Given the description of an element on the screen output the (x, y) to click on. 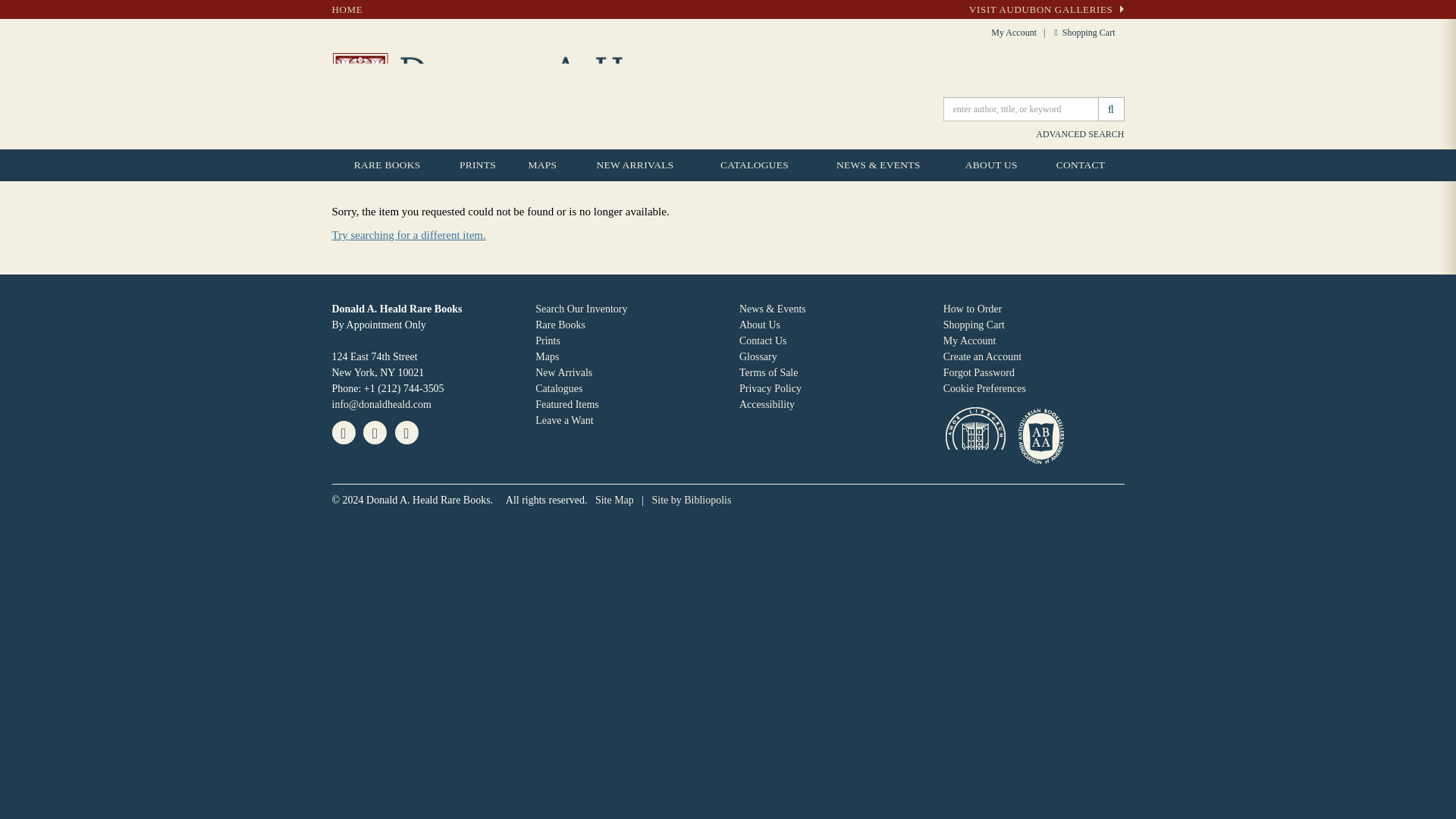
Site by Bibliopolis (692, 500)
Follow on Twitter (374, 432)
My Account (969, 340)
Featured Items (566, 404)
Skip to main content (8, 7)
HOME (346, 9)
Follow on Instagram (405, 432)
Accessibility (766, 404)
Contact Us (763, 340)
MAPS (542, 164)
